Given the description of an element on the screen output the (x, y) to click on. 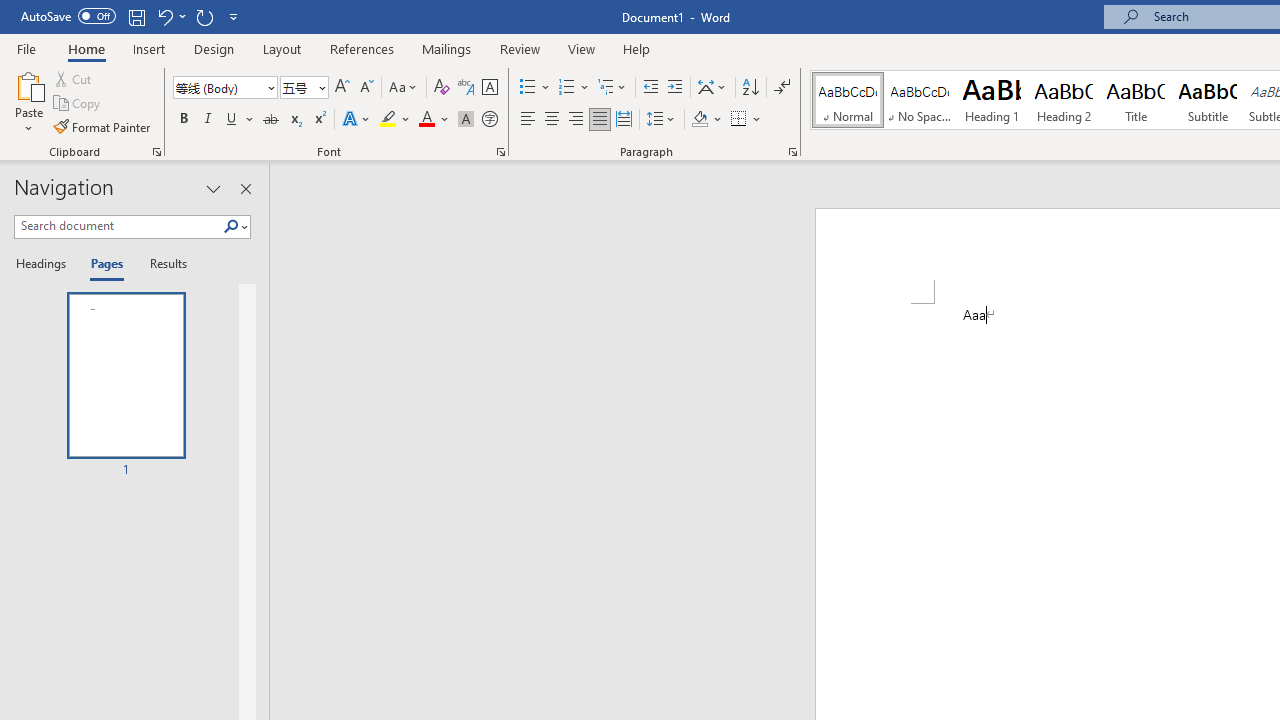
Strikethrough (270, 119)
AutoSave (68, 16)
Close pane (246, 188)
Save (136, 15)
Results (161, 264)
File Tab (26, 48)
System (10, 11)
Align Left (527, 119)
Increase Indent (675, 87)
Headings (45, 264)
Cut (73, 78)
Paragraph... (792, 151)
Underline (239, 119)
Center (552, 119)
Home (86, 48)
